Given the description of an element on the screen output the (x, y) to click on. 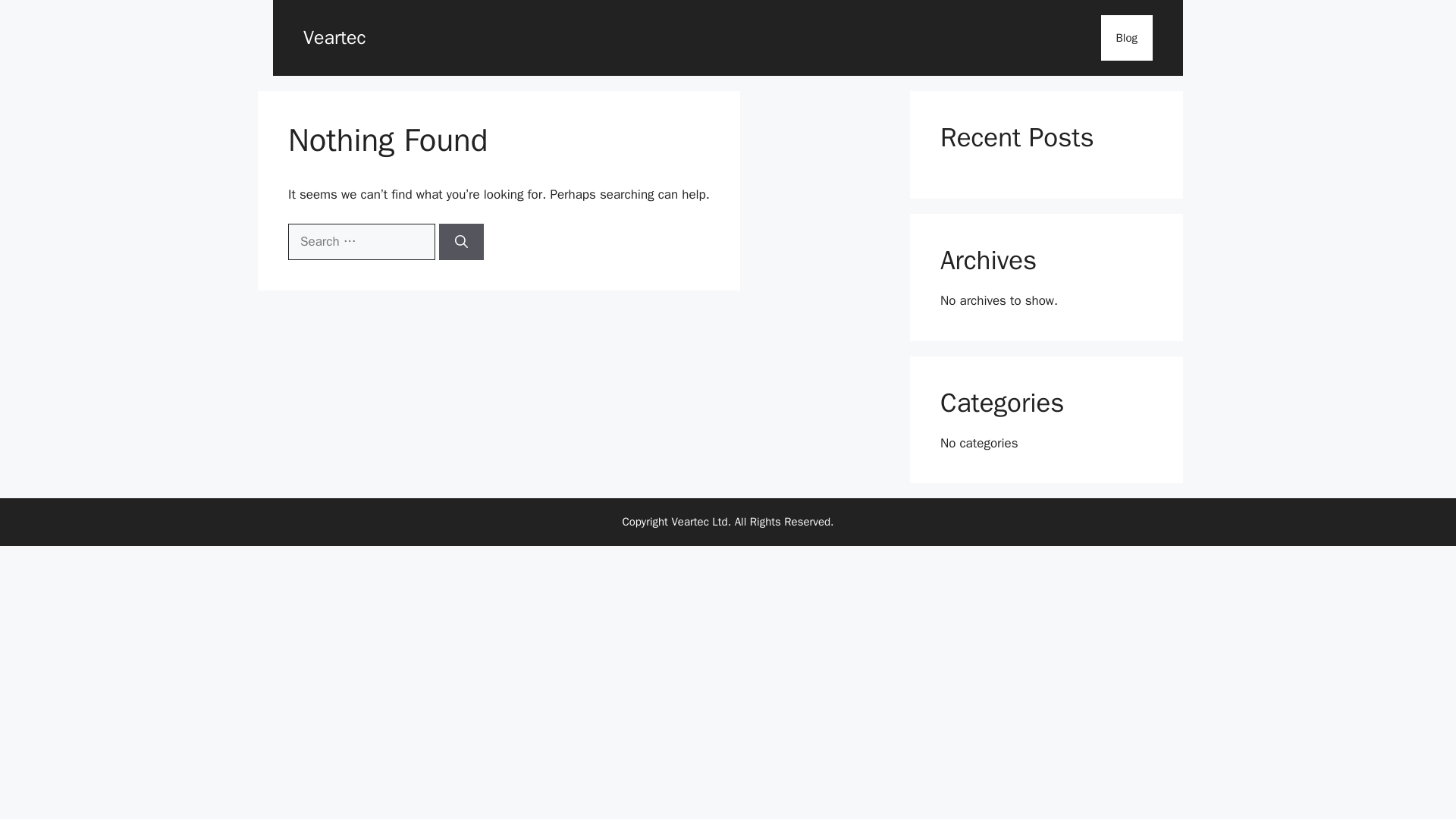
Veartec (333, 37)
Search for: (361, 241)
Blog (1126, 37)
